Given the description of an element on the screen output the (x, y) to click on. 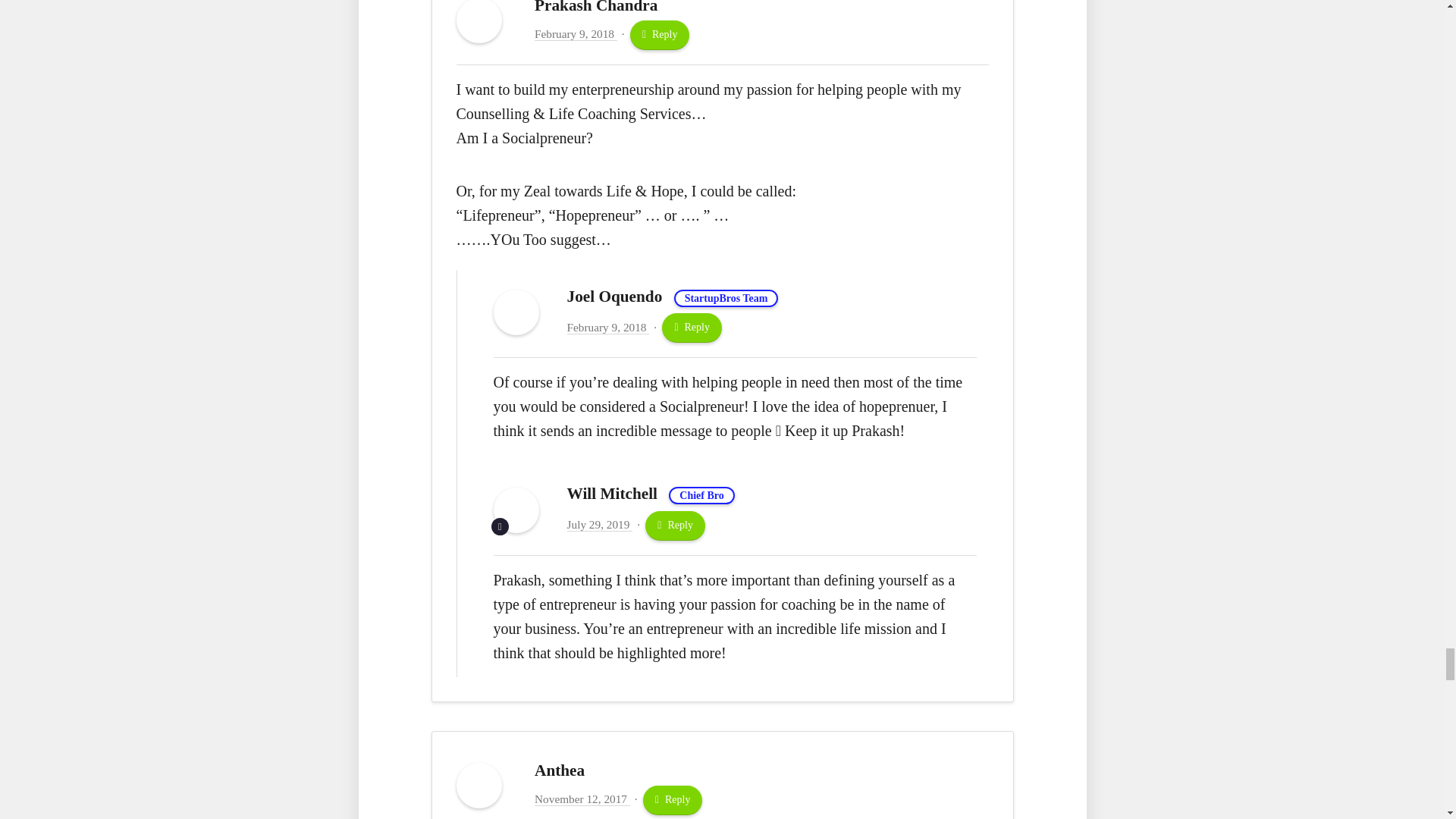
Gravatar for Joel Oquendo (515, 311)
Gravatar for Will Mitchell (515, 510)
Gravatar for Anthea (479, 785)
Post Author (500, 526)
Gravatar for Prakash Chandra (479, 21)
